Given the description of an element on the screen output the (x, y) to click on. 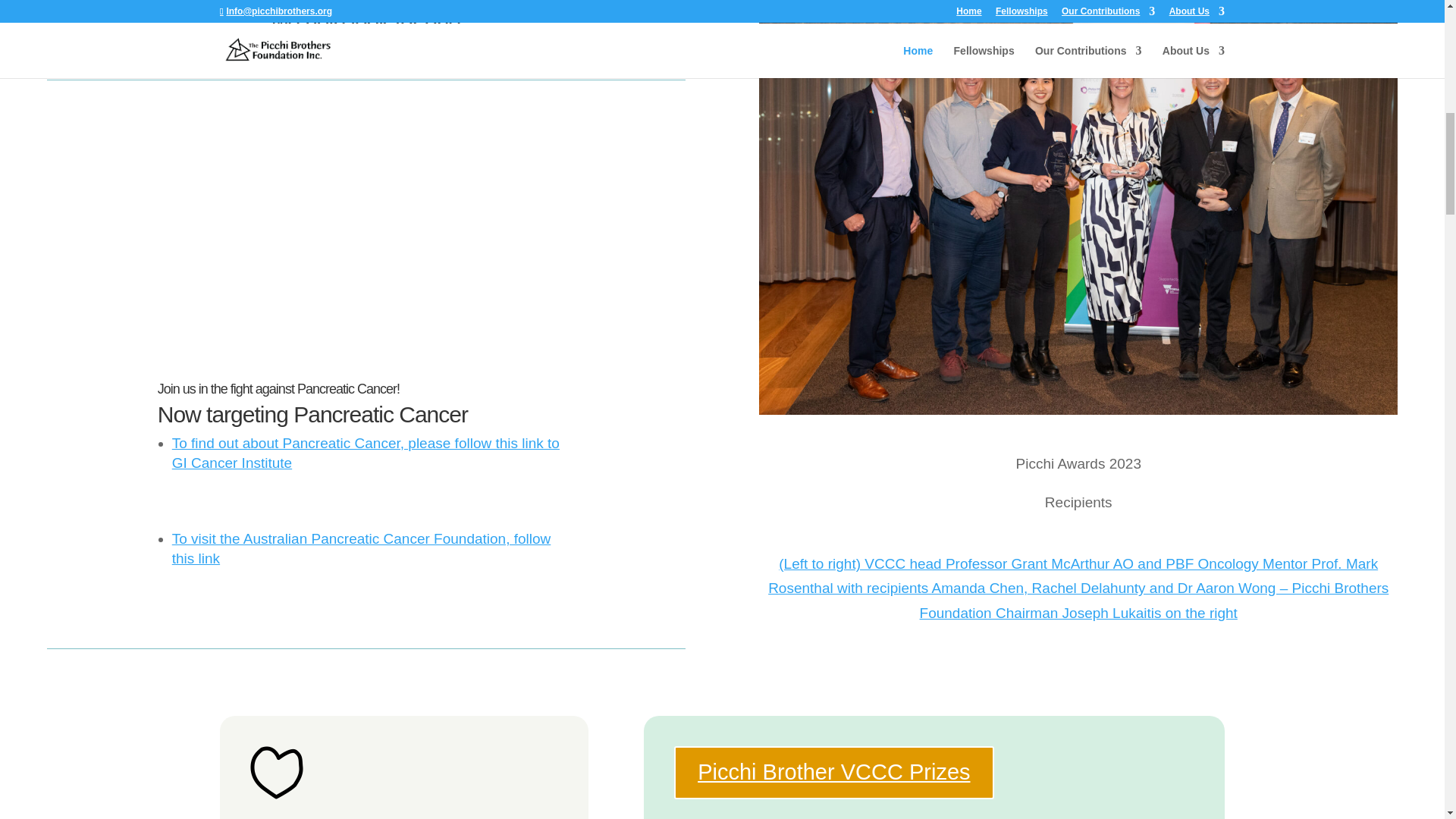
senior-care-17c (276, 772)
